Given the description of an element on the screen output the (x, y) to click on. 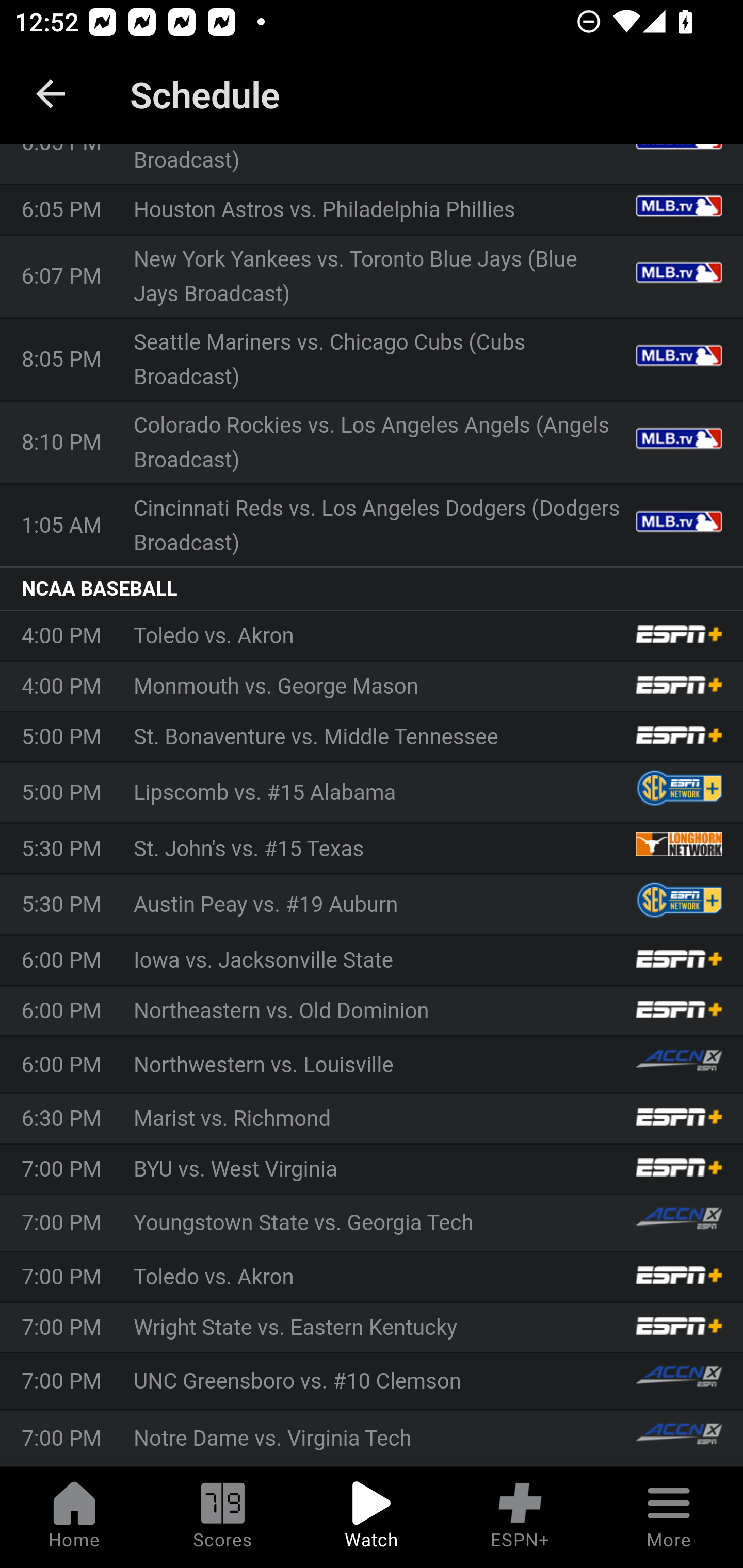
back.button (50, 93)
Home (74, 1517)
Scores (222, 1517)
ESPN+ (519, 1517)
More (668, 1517)
